Given the description of an element on the screen output the (x, y) to click on. 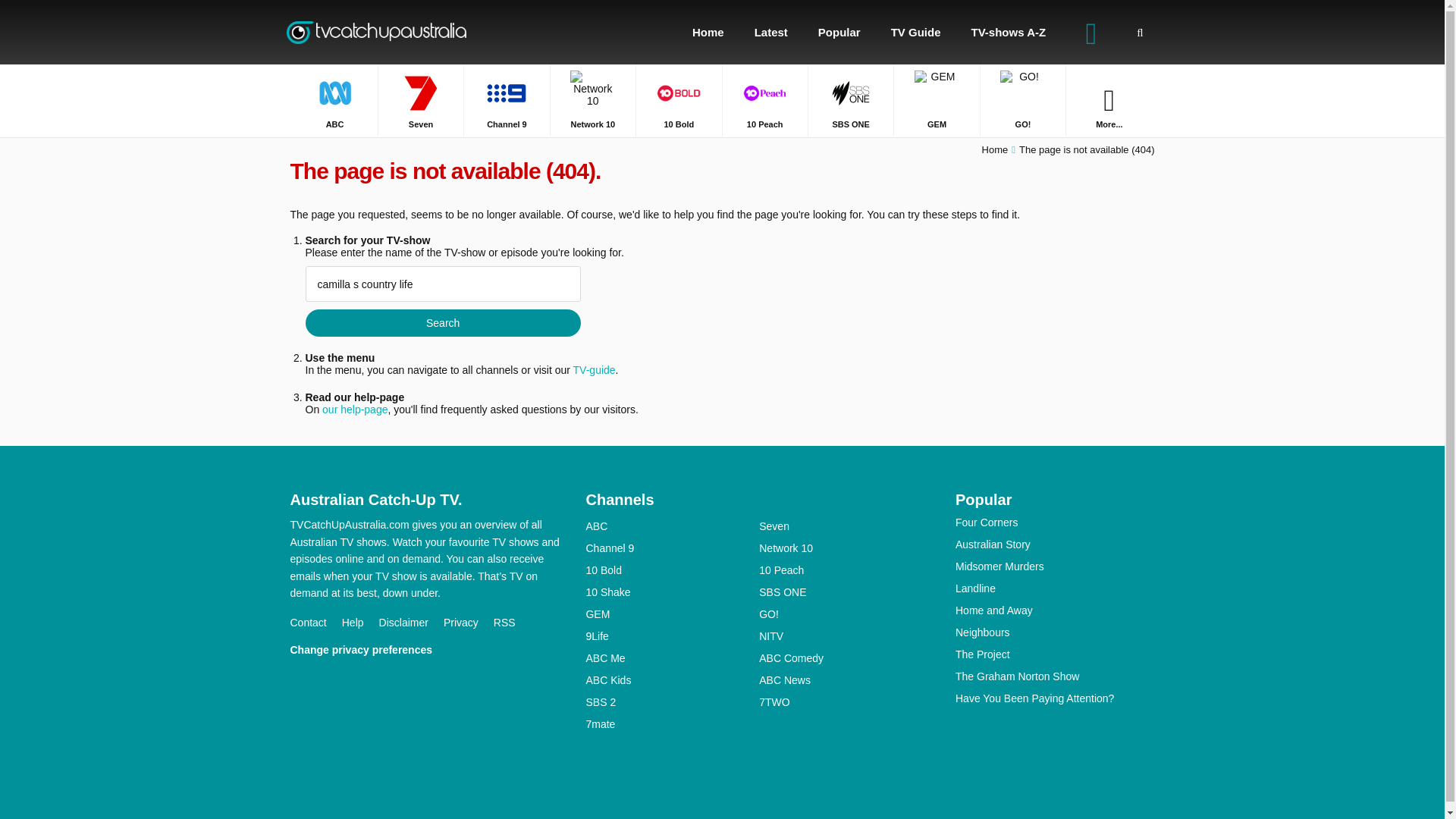
GEM (935, 100)
our help-page (354, 409)
Popular (839, 32)
RSS (512, 622)
Home (995, 149)
10 Peach (764, 100)
SBS ONE (850, 100)
Seven (845, 526)
ABC (334, 100)
Contact (314, 622)
Channel 9 (506, 100)
Channel 9 (506, 100)
Seven (420, 100)
GO! (1022, 100)
